Given the description of an element on the screen output the (x, y) to click on. 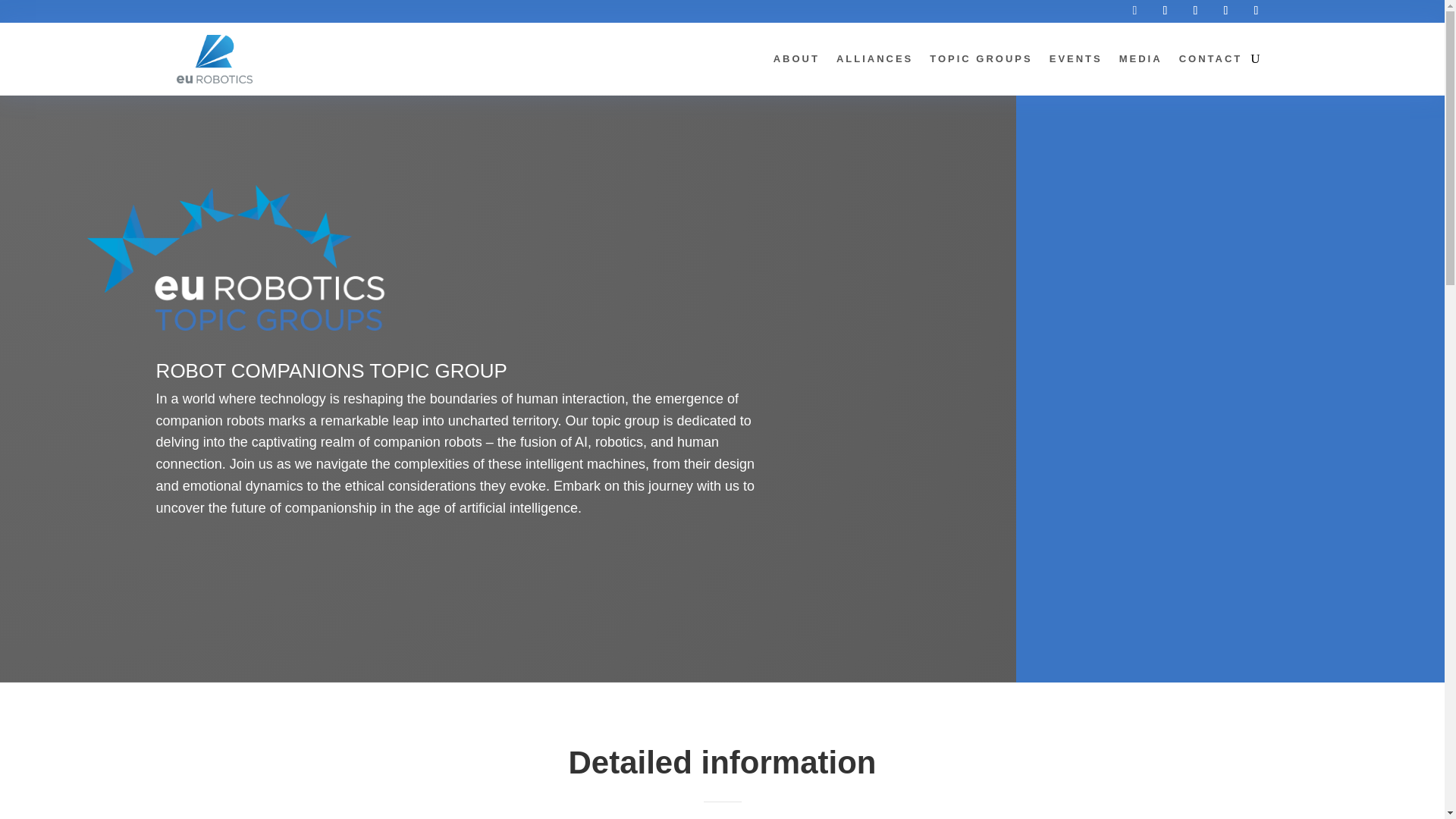
EVENTS (1075, 58)
TOPIC GROUPS (981, 58)
Follow on Facebook (1134, 11)
CONTACT (1211, 58)
Follow on Instagram (1255, 11)
Follow on Youtube (1224, 11)
ALLIANCES (873, 58)
Follow on LinkedIn (1194, 11)
Follow on X (1164, 11)
